Given the description of an element on the screen output the (x, y) to click on. 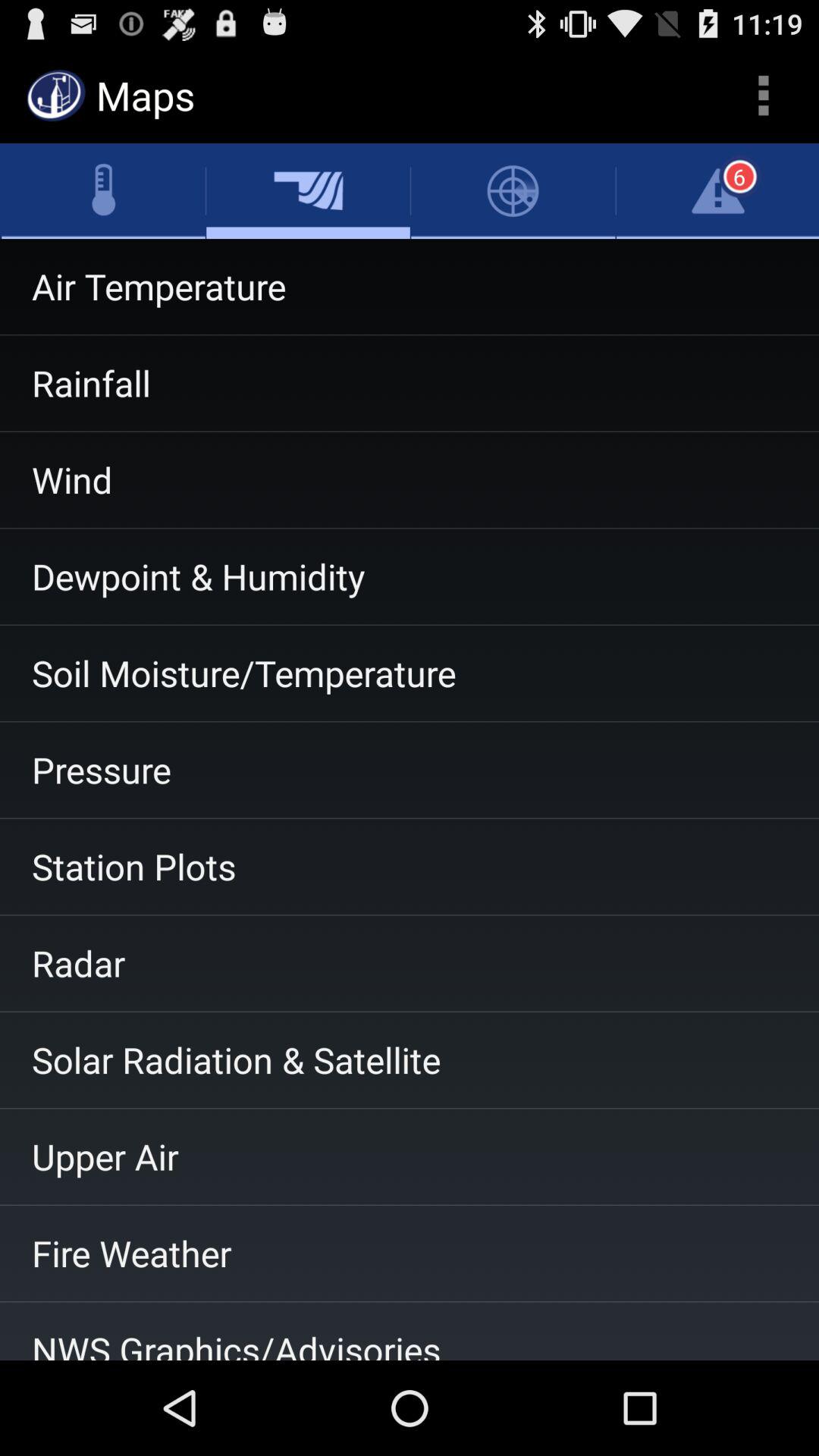
flip to the wind item (409, 479)
